Given the description of an element on the screen output the (x, y) to click on. 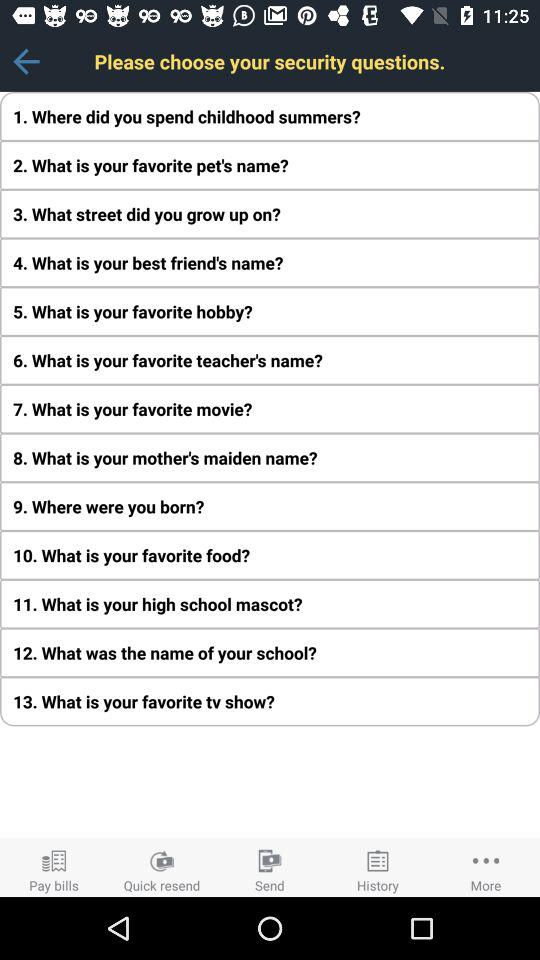
choose icon to the left of the please choose your app (26, 61)
